Given the description of an element on the screen output the (x, y) to click on. 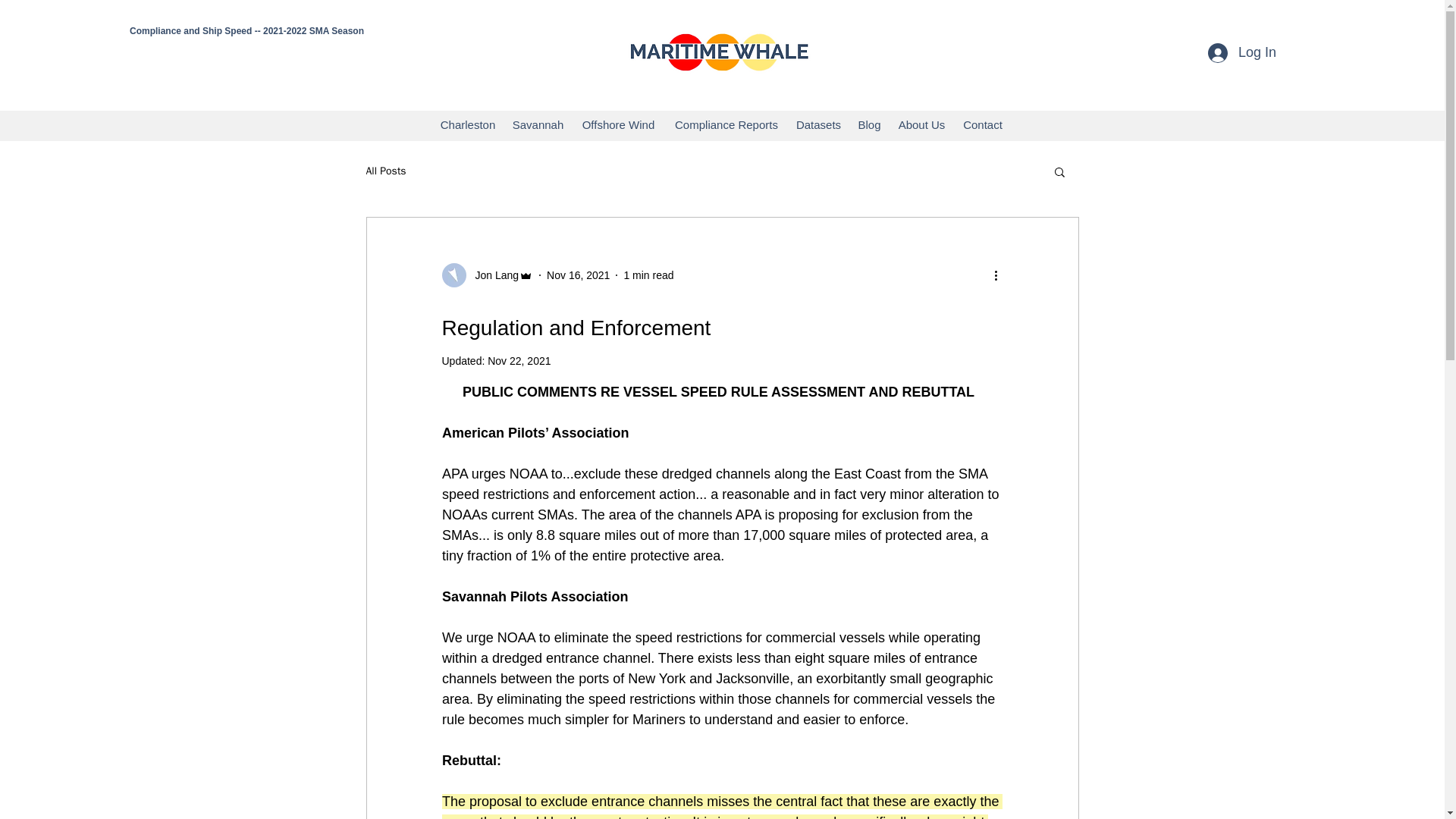
Jon Lang (486, 274)
Nov 22, 2021 (518, 360)
Savannah (536, 124)
Log In (1241, 51)
Offshore Wind (617, 124)
Contact (981, 124)
Blog (868, 124)
About Us (920, 124)
Charleston (466, 124)
1 min read (647, 274)
Compliance Reports (726, 124)
All Posts (385, 171)
Datasets (817, 124)
Jon Lang (491, 274)
Nov 16, 2021 (578, 274)
